Given the description of an element on the screen output the (x, y) to click on. 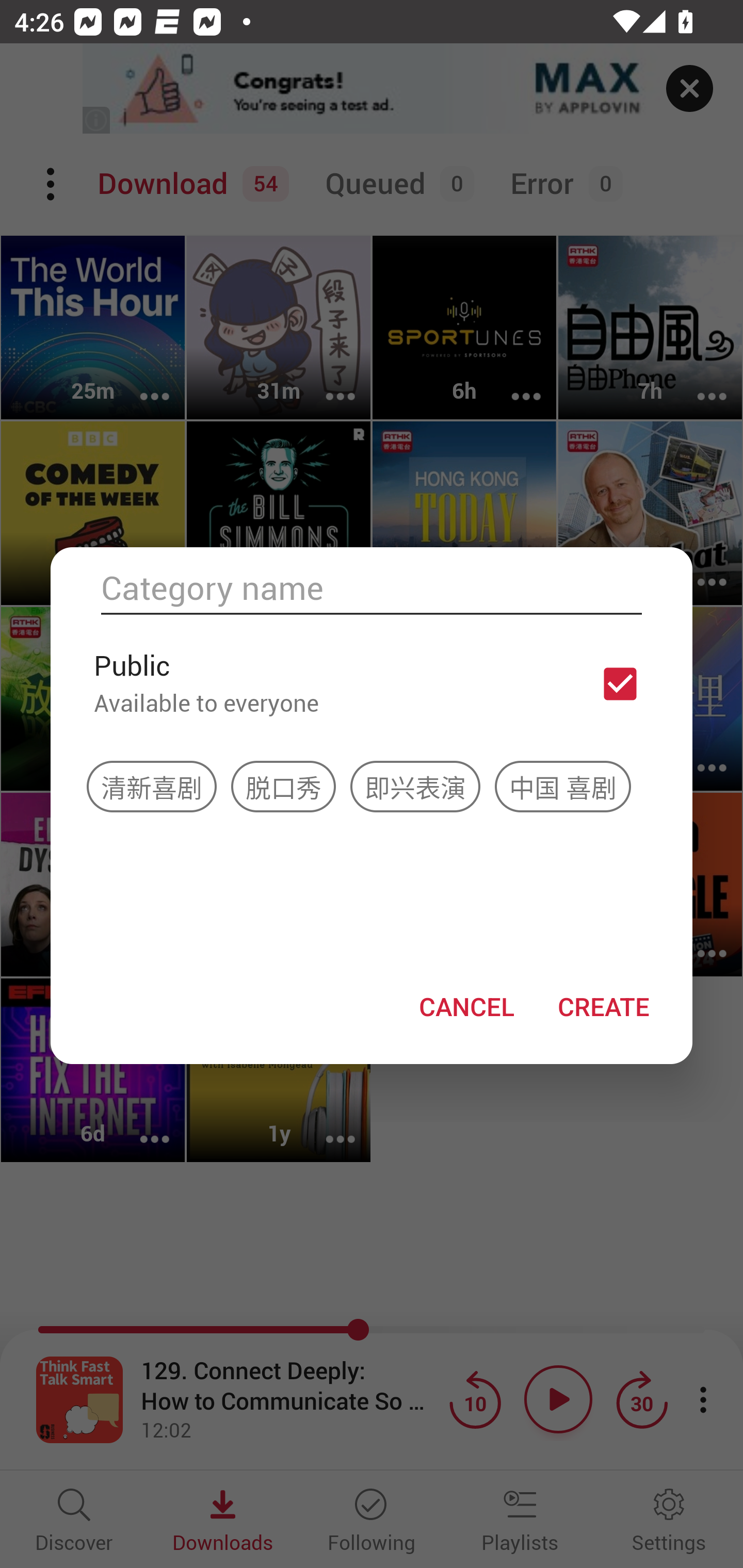
Category name (371, 587)
Public Available to everyone (371, 683)
清新喜剧 (151, 786)
脱口秀 (283, 786)
即兴表演 (415, 786)
中国 喜剧 (562, 786)
CANCEL (465, 1005)
CREATE (602, 1005)
